Given the description of an element on the screen output the (x, y) to click on. 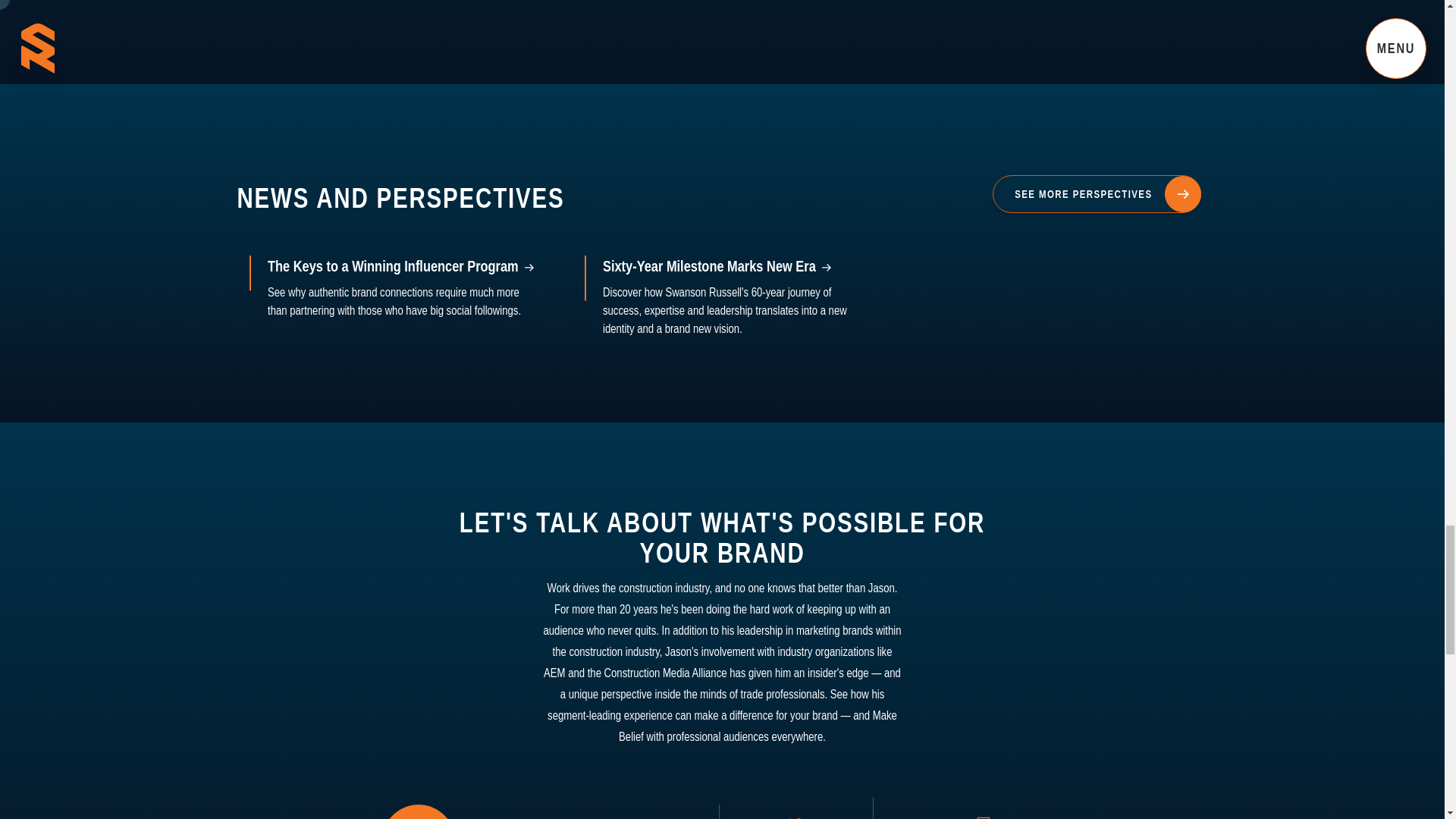
402-437-6421 (796, 807)
SEE MORE PERSPECTIVES (1097, 192)
SEE MORE PERSPECTIVES (1097, 193)
